Given the description of an element on the screen output the (x, y) to click on. 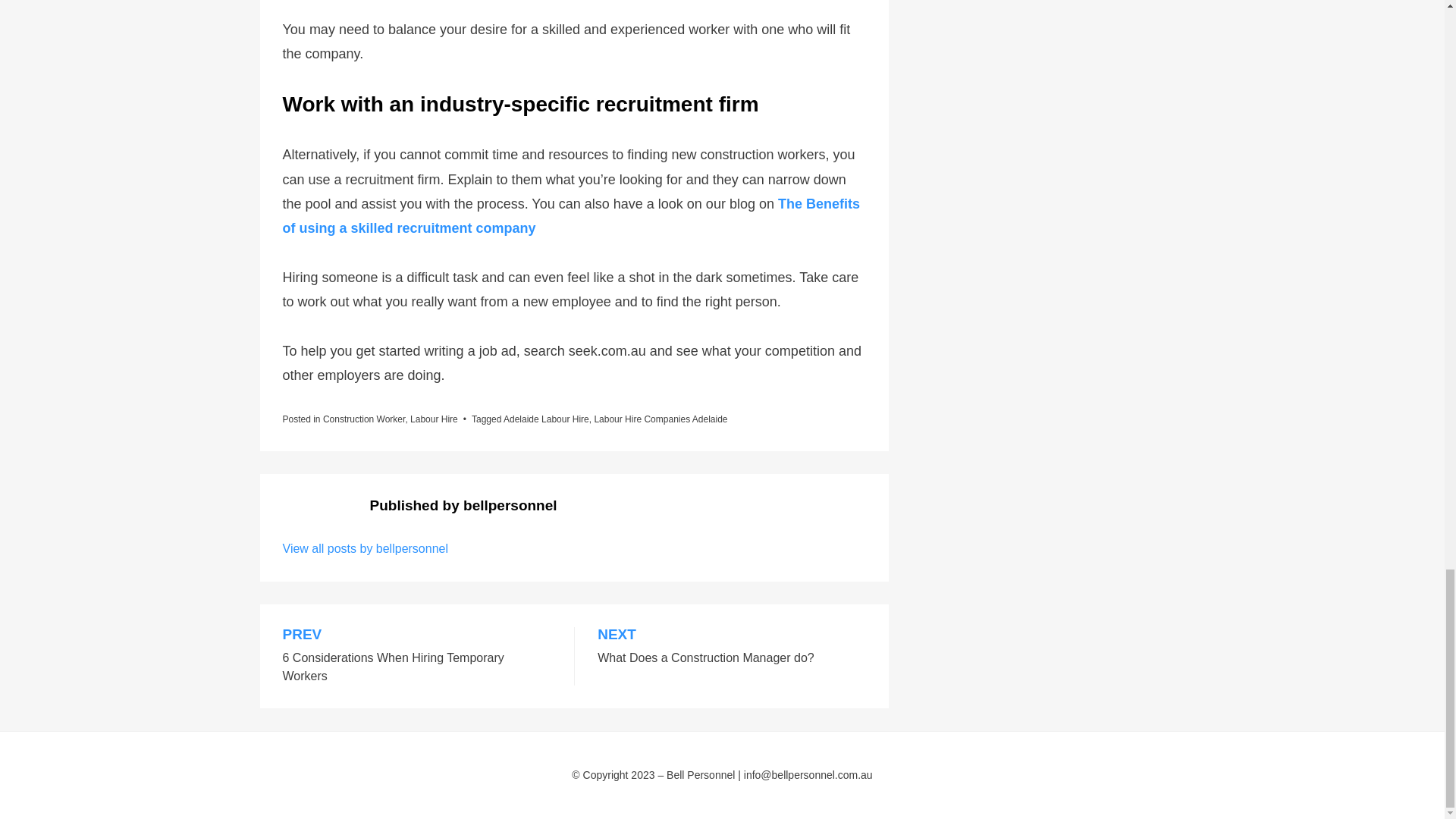
The Benefits of using a skilled recruitment company (570, 215)
WordPress (496, 796)
Construction Worker (364, 419)
Labour Hire Companies Adelaide (660, 419)
Adelaide Labour Hire (546, 419)
View all posts by bellpersonnel (416, 656)
WordPress (365, 548)
Labour Hire (496, 796)
Bell Personnel (434, 419)
